Given the description of an element on the screen output the (x, y) to click on. 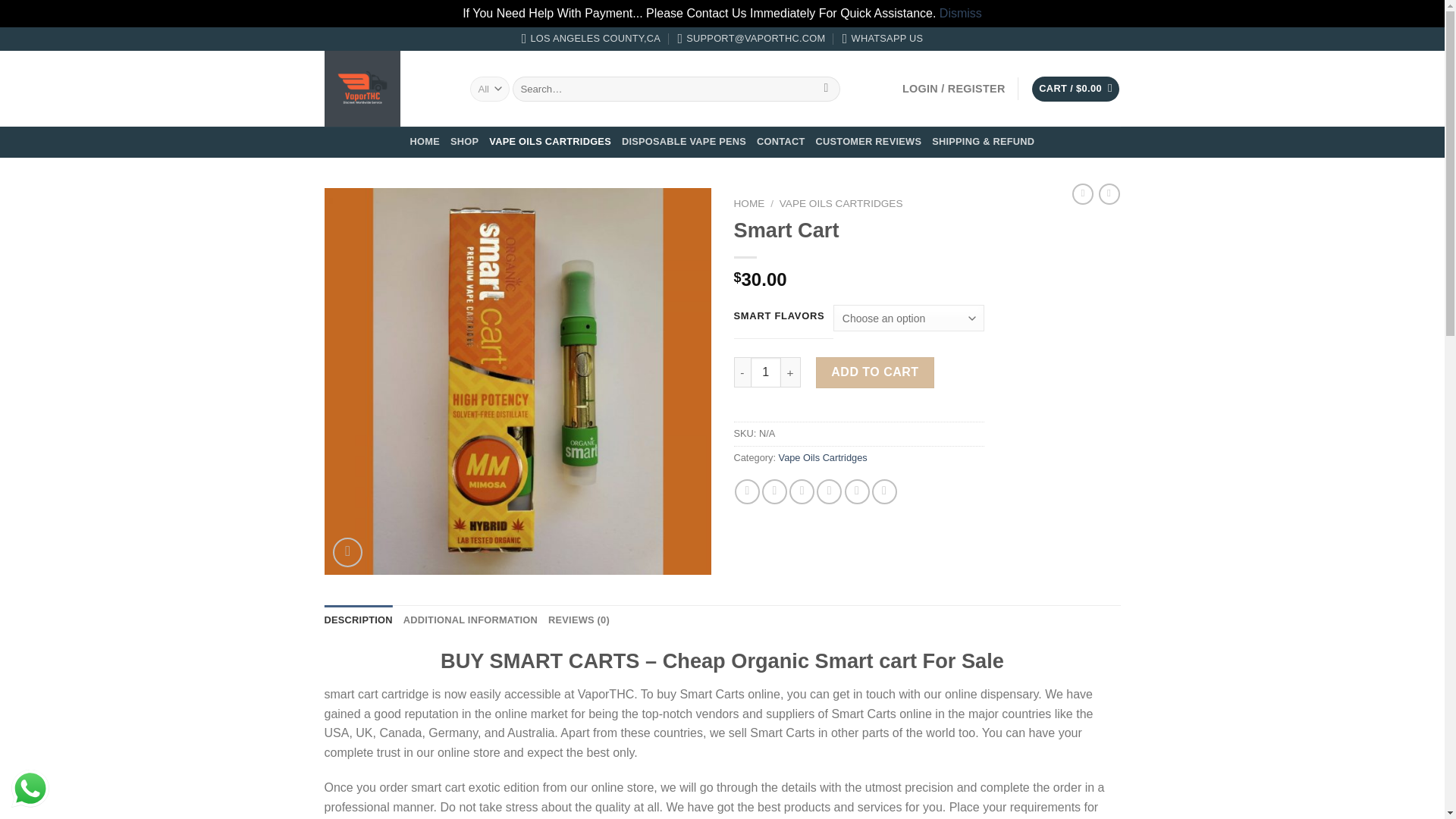
CUSTOMER REVIEWS (868, 141)
Cart (1075, 88)
Qty (765, 372)
Vape Oils Cartridges (822, 457)
SHOP (464, 141)
VaporThc - VaporThc (385, 88)
VAPE OILS CARTRIDGES (550, 141)
Dismiss (960, 12)
LOS ANGELES COUNTY,CA (591, 39)
1 (765, 372)
WHATSAPP US (883, 39)
DISPOSABLE VAPE PENS (683, 141)
VAPE OILS CARTRIDGES (840, 203)
WhatsApp us (30, 788)
